Given the description of an element on the screen output the (x, y) to click on. 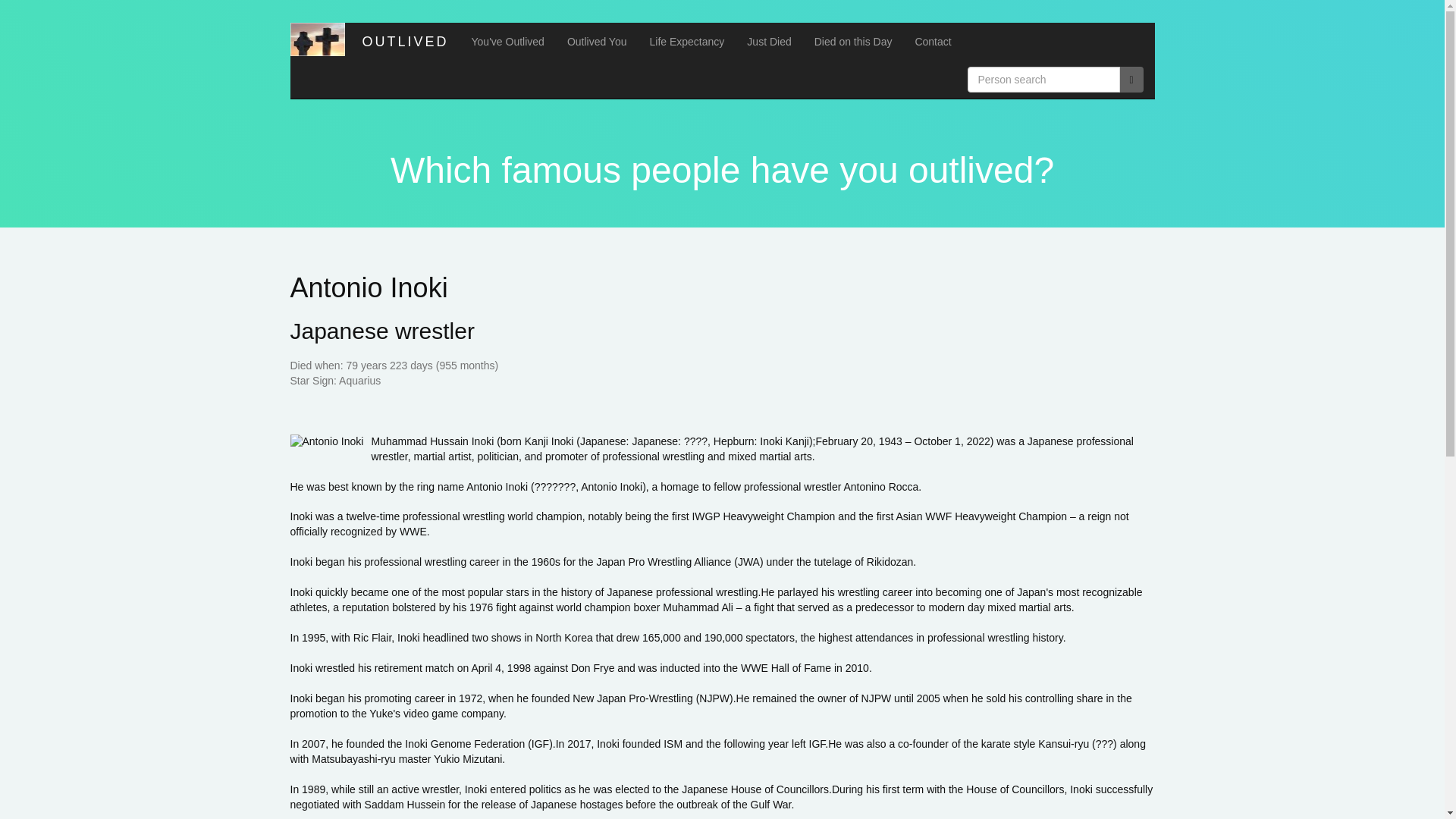
Contact (932, 41)
 OUTLIVED (401, 41)
Just Died (768, 41)
 OUTLIVED (401, 41)
Life Expectancy (687, 41)
You've Outlived (508, 41)
Outlived You (597, 41)
Died on this Day (853, 41)
